Given the description of an element on the screen output the (x, y) to click on. 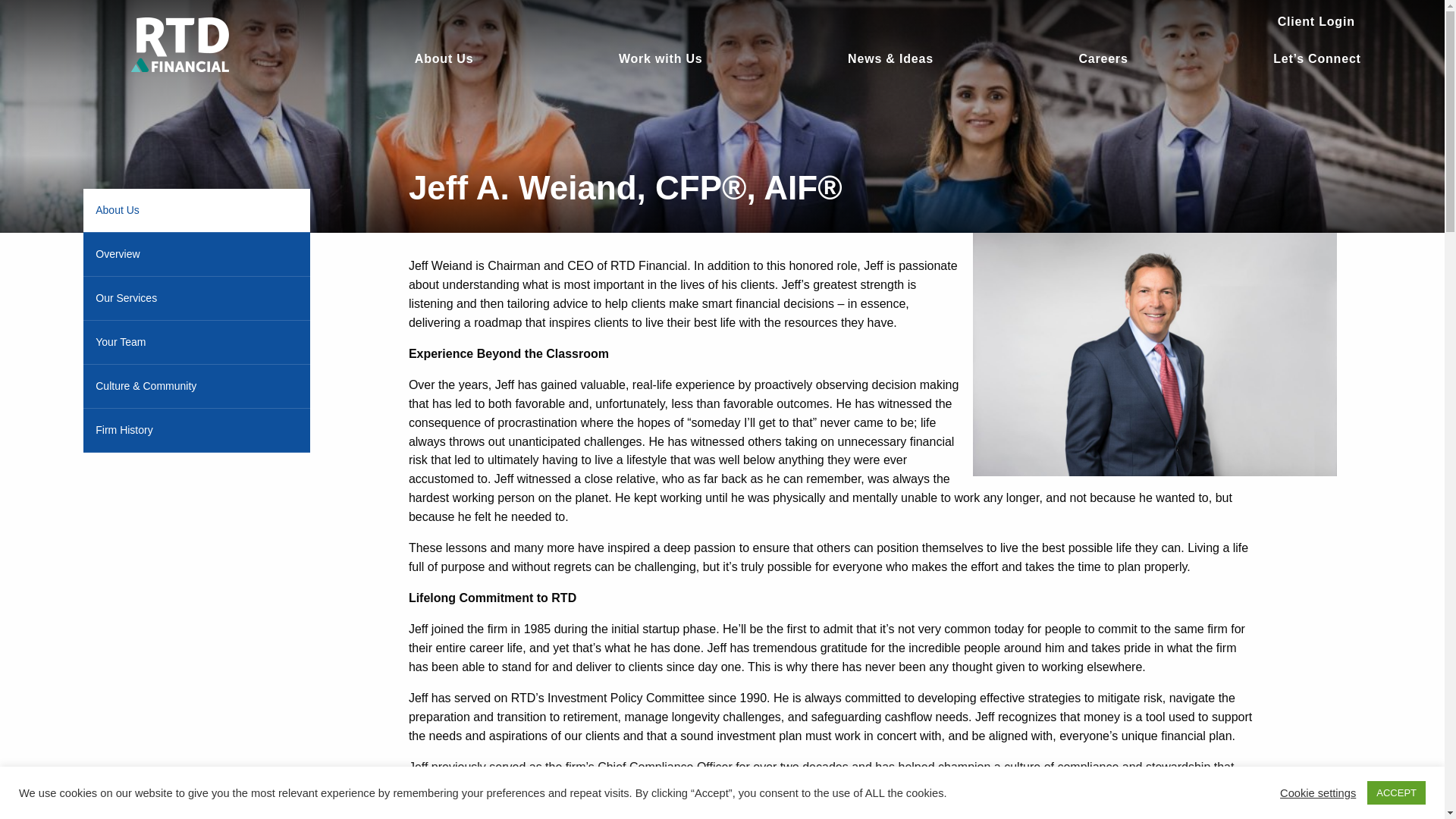
Careers (1102, 56)
Overview (196, 254)
About Us (196, 210)
About Us (444, 56)
Our Services (196, 298)
Client Login (1316, 21)
Work with Us (660, 56)
